Given the description of an element on the screen output the (x, y) to click on. 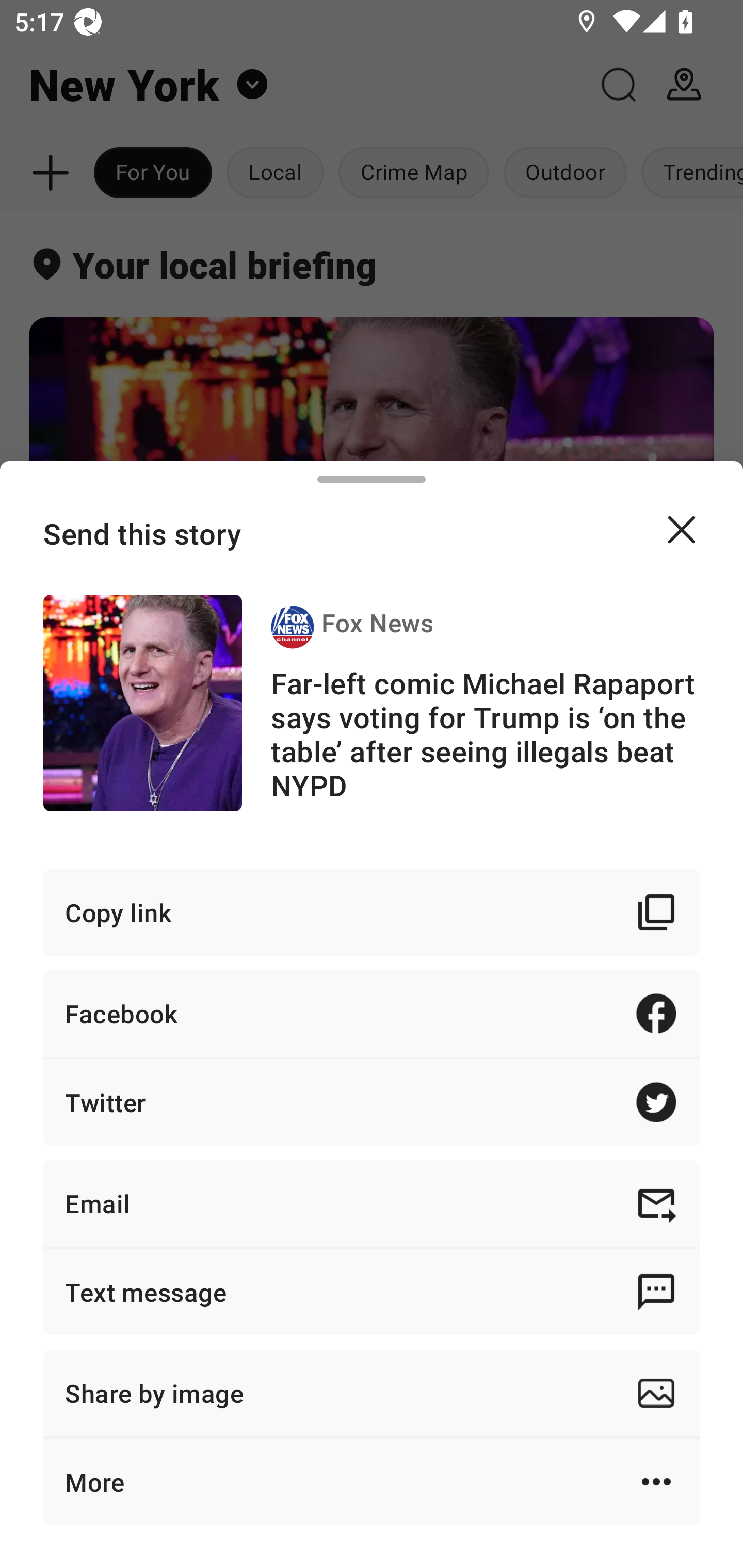
Copy link (371, 912)
Facebook (371, 1013)
Twitter (371, 1102)
Email (371, 1203)
Text message (371, 1291)
Share by image (371, 1393)
More (371, 1481)
